Given the description of an element on the screen output the (x, y) to click on. 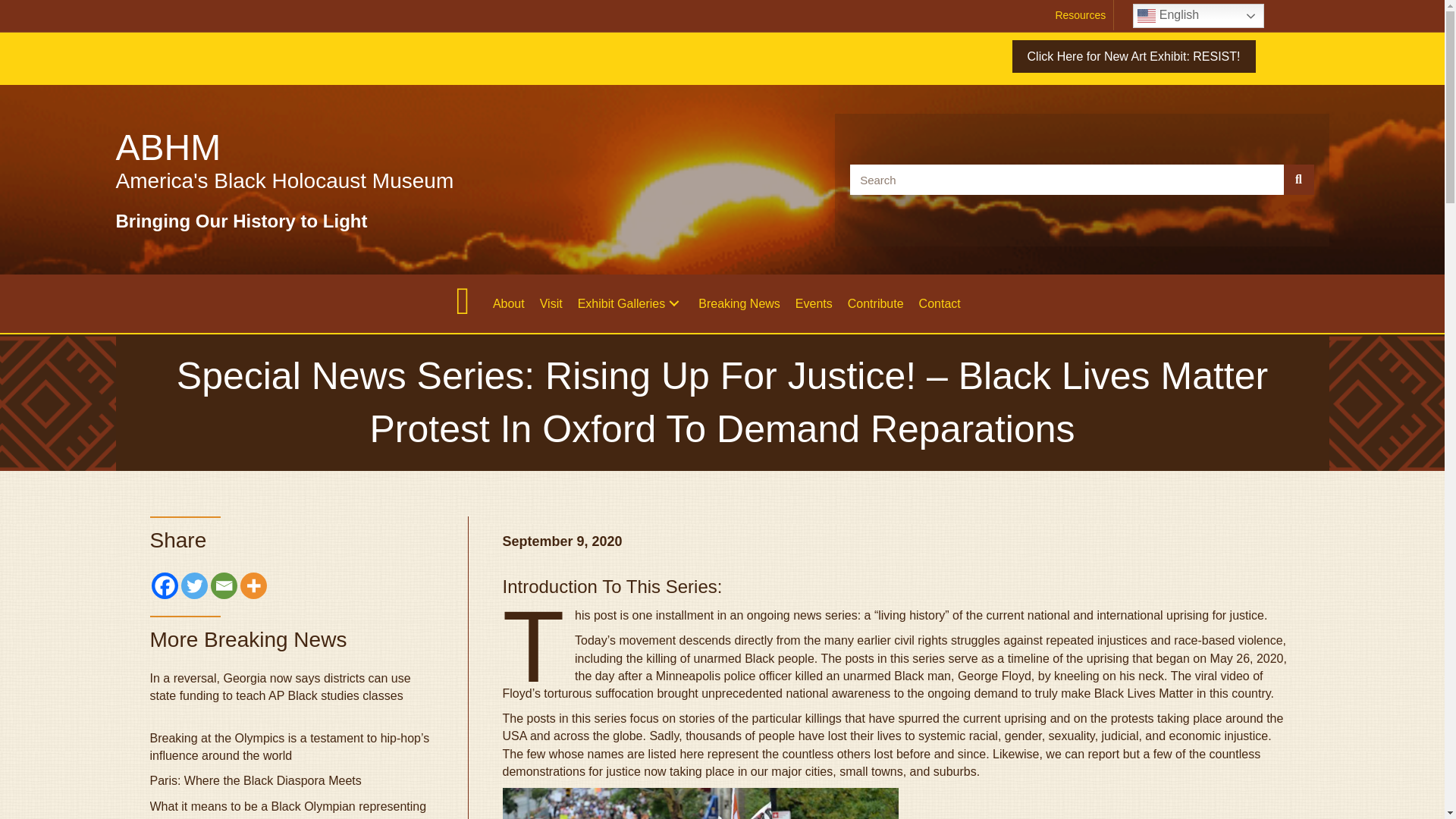
Exhibit Galleries (630, 303)
Click Here for New Art Exhibit: RESIST! (1133, 56)
Facebook (164, 585)
Paris: Where the Black Diaspora Meets (255, 780)
Contact (939, 303)
Breaking News (738, 303)
Paris: Where the Black Diaspora Meets (255, 780)
Events (813, 303)
More Breaking News (248, 639)
About (508, 303)
Twitter (193, 585)
Contribute (875, 303)
